Given the description of an element on the screen output the (x, y) to click on. 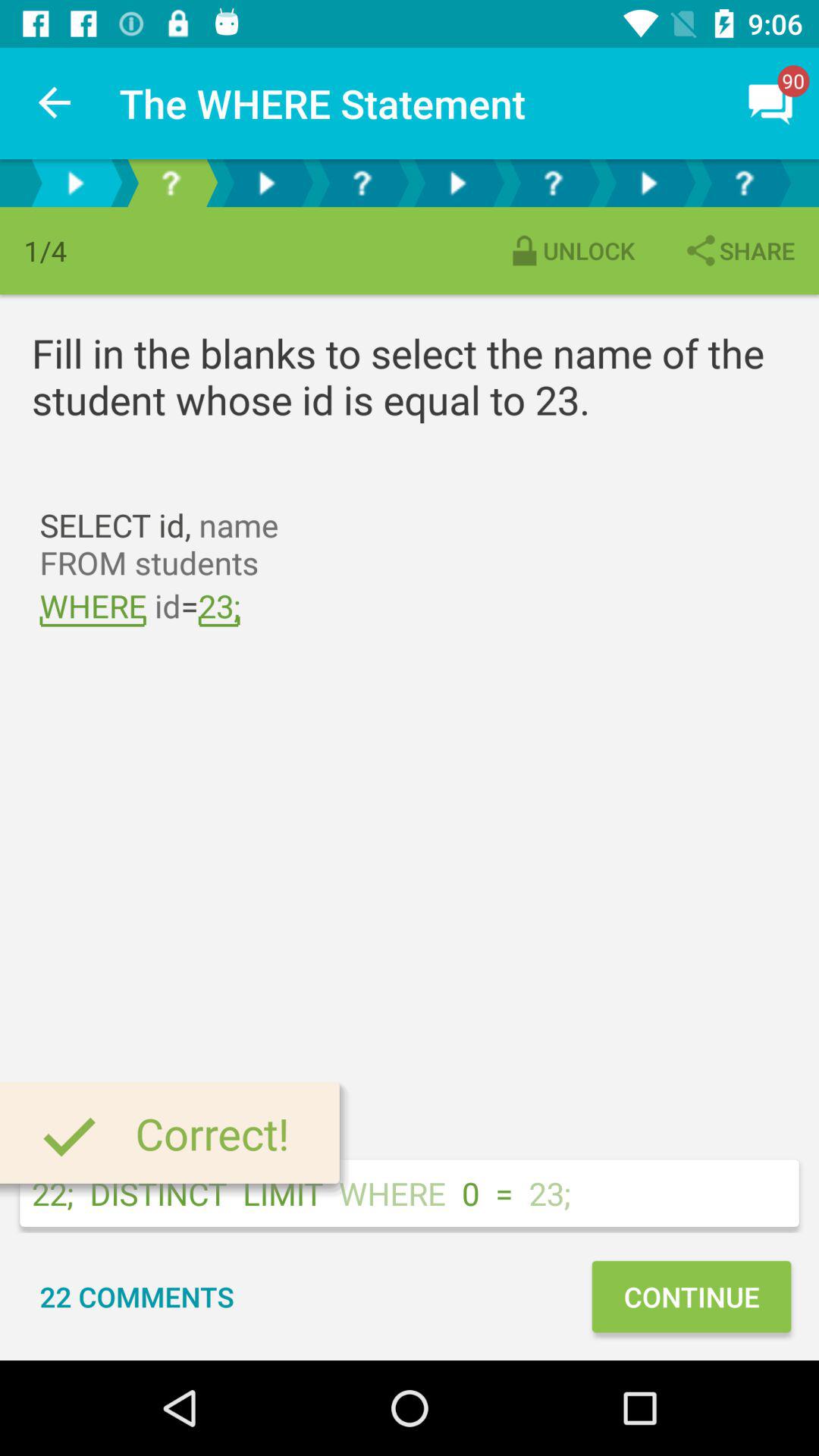
click item next to the where statement item (55, 103)
